Given the description of an element on the screen output the (x, y) to click on. 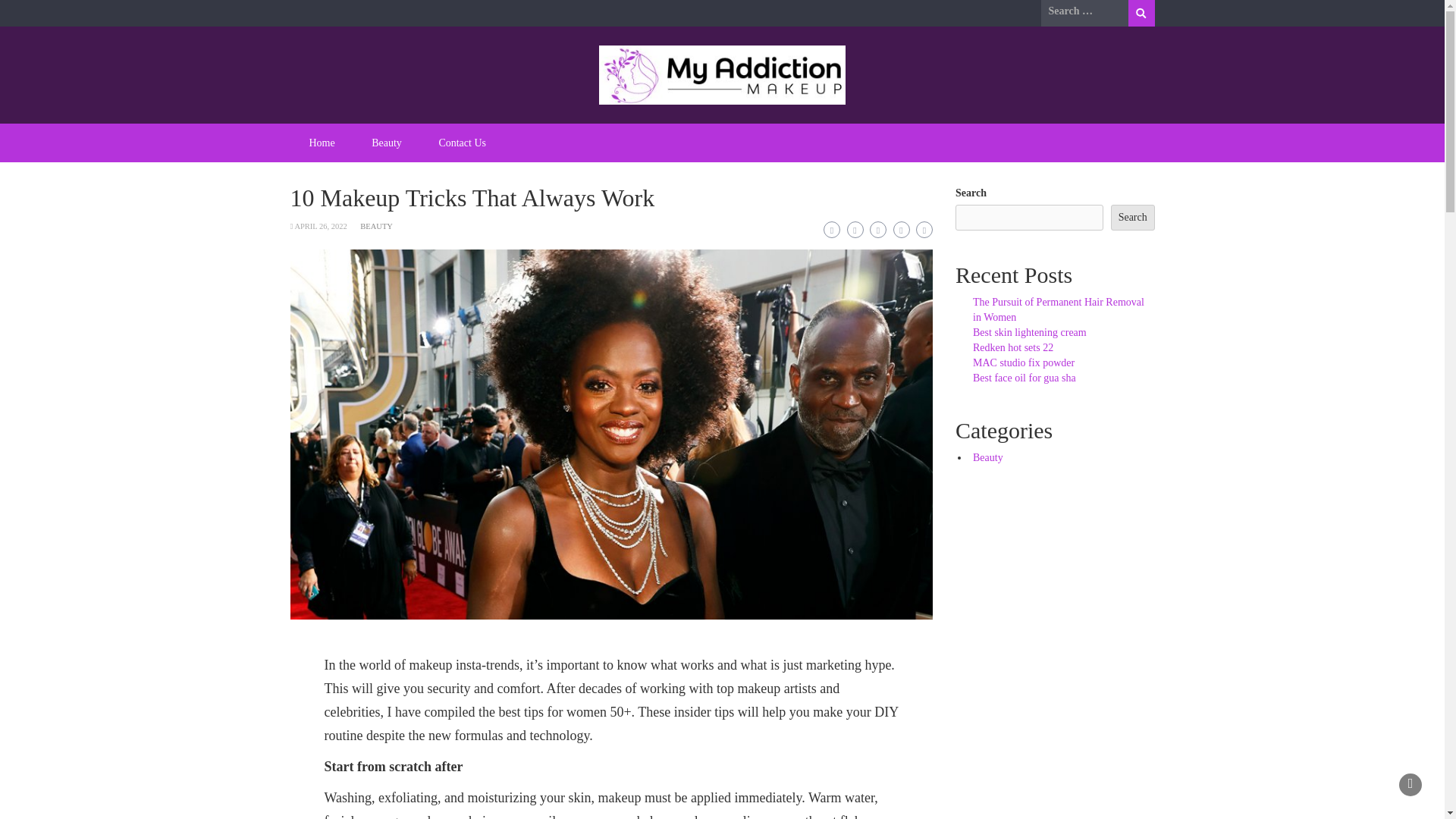
Beauty (386, 142)
Search (1141, 13)
Best face oil for gua sha (1023, 378)
Search (1141, 13)
MAC studio fix powder (1023, 362)
Contact Us (461, 142)
Search for: (1083, 11)
Best skin lightening cream (1029, 332)
APRIL 26, 2022 (320, 225)
The Pursuit of Permanent Hair Removal in Women (1058, 309)
Home (322, 142)
Redken hot sets 22 (1012, 347)
BEAUTY (376, 225)
Search (1141, 13)
Beauty (987, 457)
